Given the description of an element on the screen output the (x, y) to click on. 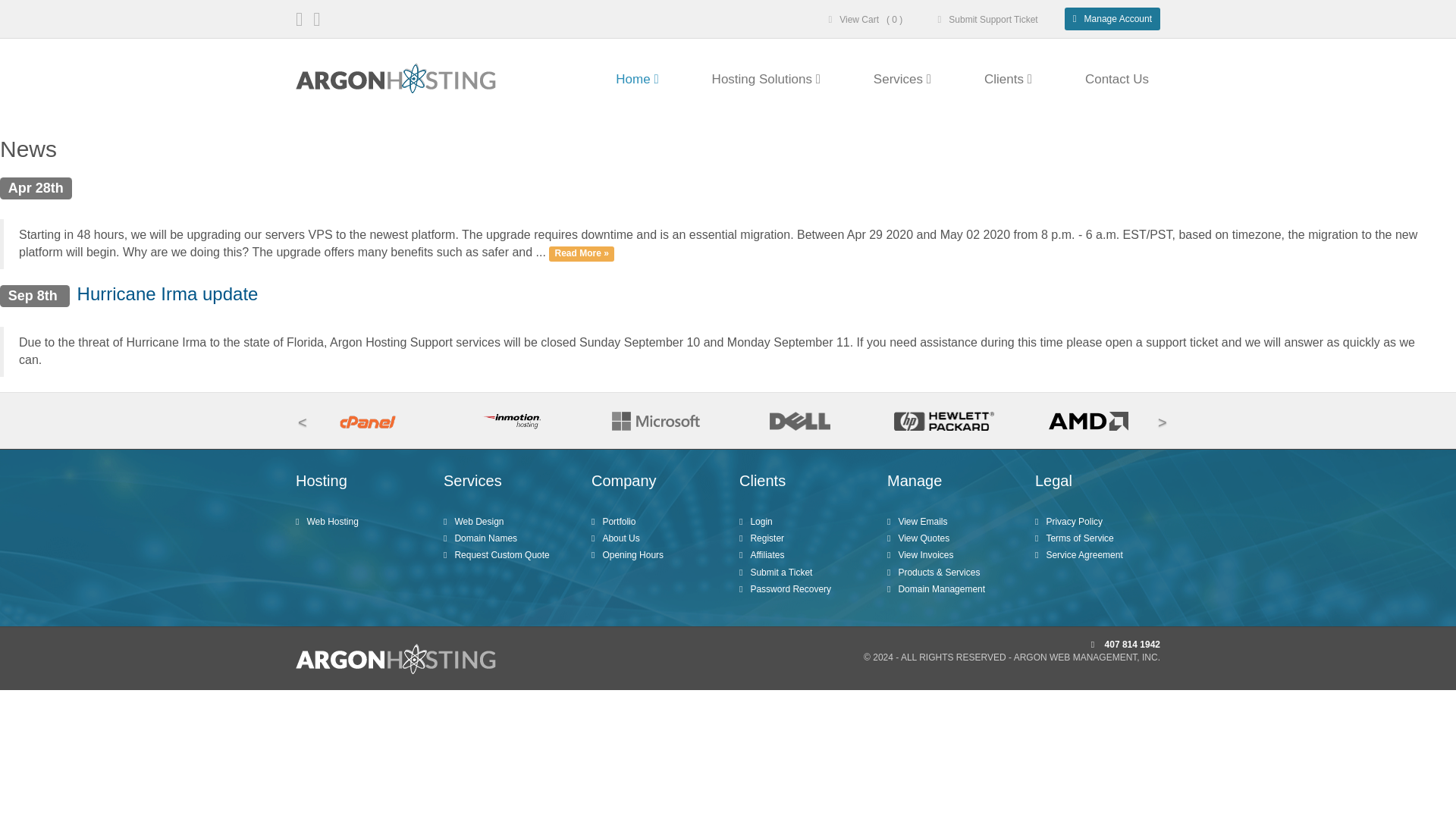
Services (901, 79)
Hosting Solutions (765, 79)
Web Design (506, 521)
Portfolio (653, 521)
Domain Names (506, 538)
Hurricane Irma update (168, 293)
Web Hosting (357, 521)
Home (636, 79)
Contact Us (1111, 79)
About Us (653, 538)
